Given the description of an element on the screen output the (x, y) to click on. 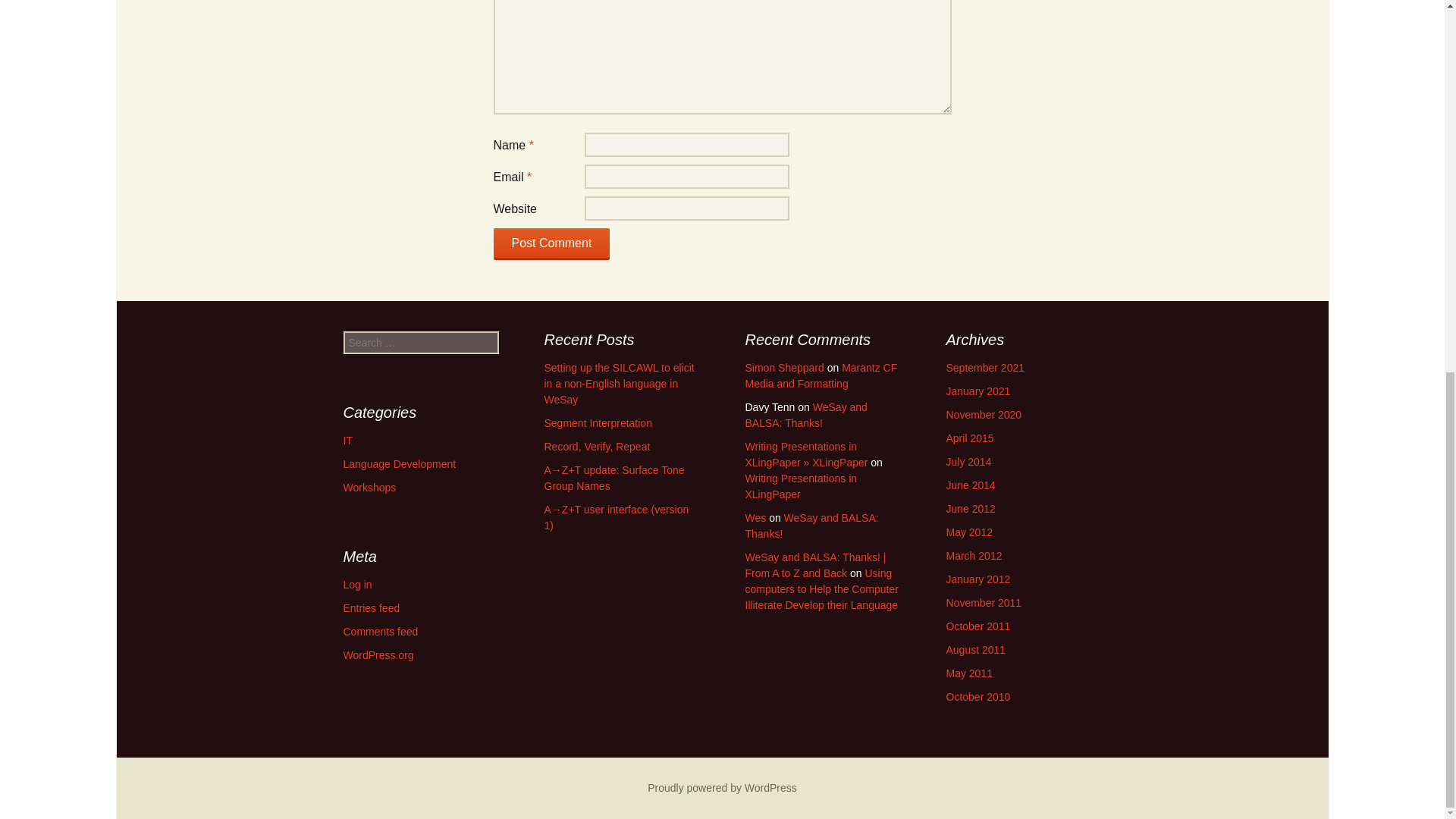
October 2010 (978, 696)
Record, Verify, Repeat (597, 446)
November 2011 (984, 603)
Writing Presentations in XLingPaper (800, 486)
January 2021 (978, 390)
May 2011 (969, 673)
May 2012 (969, 532)
June 2014 (970, 485)
September 2021 (985, 367)
July 2014 (968, 461)
Semantic Personal Publishing Platform (721, 787)
June 2012 (970, 508)
Post Comment (551, 244)
